Given the description of an element on the screen output the (x, y) to click on. 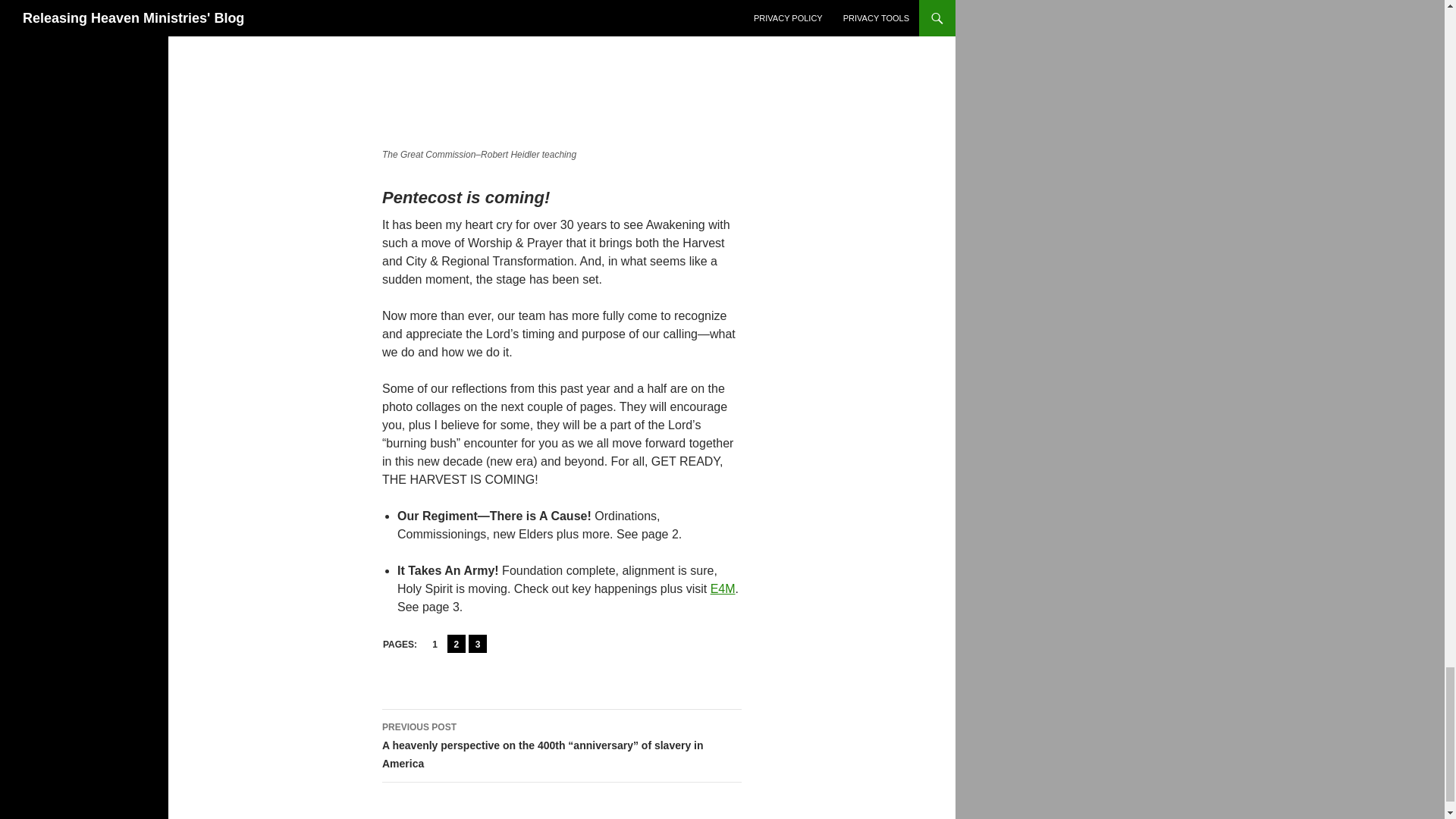
E4M (722, 588)
3 (477, 643)
2 (455, 643)
